Given the description of an element on the screen output the (x, y) to click on. 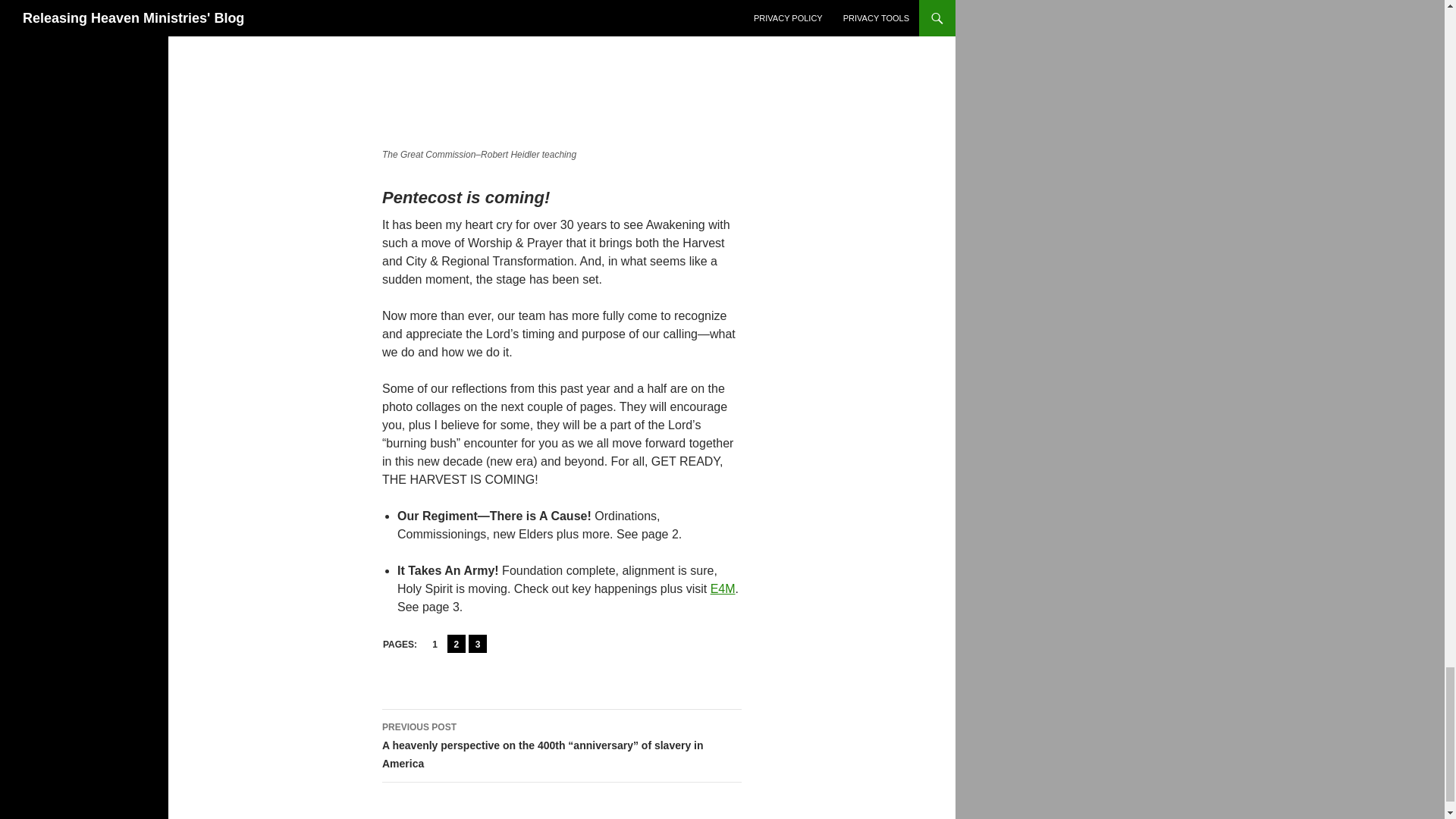
E4M (722, 588)
3 (477, 643)
2 (455, 643)
